Given the description of an element on the screen output the (x, y) to click on. 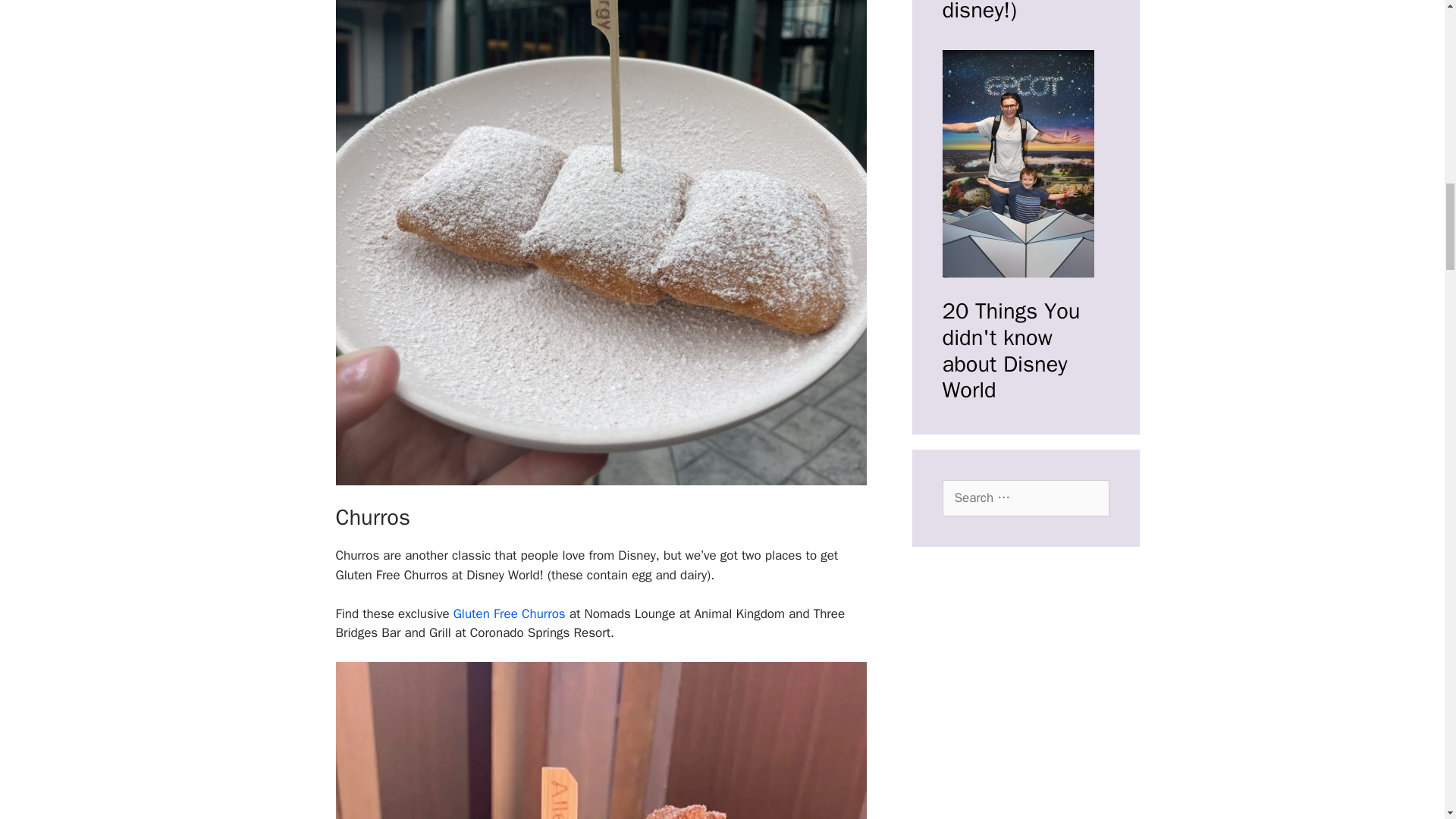
Gluten Free Churros (509, 613)
